Given the description of an element on the screen output the (x, y) to click on. 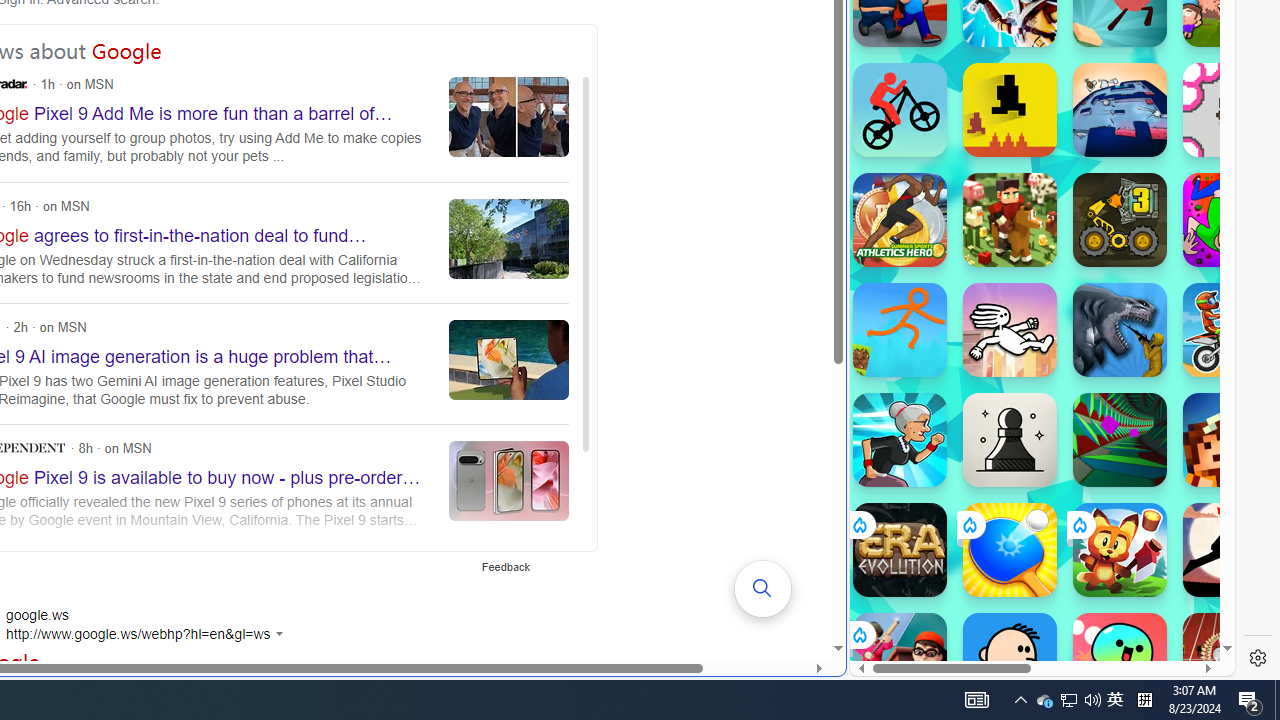
Hills of Steel (925, 290)
Poki (1034, 606)
Angry Gran Run (899, 439)
School Escape! (899, 659)
Class: rCs5cyEiqiTpYvt_VBCR (858, 634)
Classic Chess (1009, 439)
Crazy Cars (1217, 290)
